Given the description of an element on the screen output the (x, y) to click on. 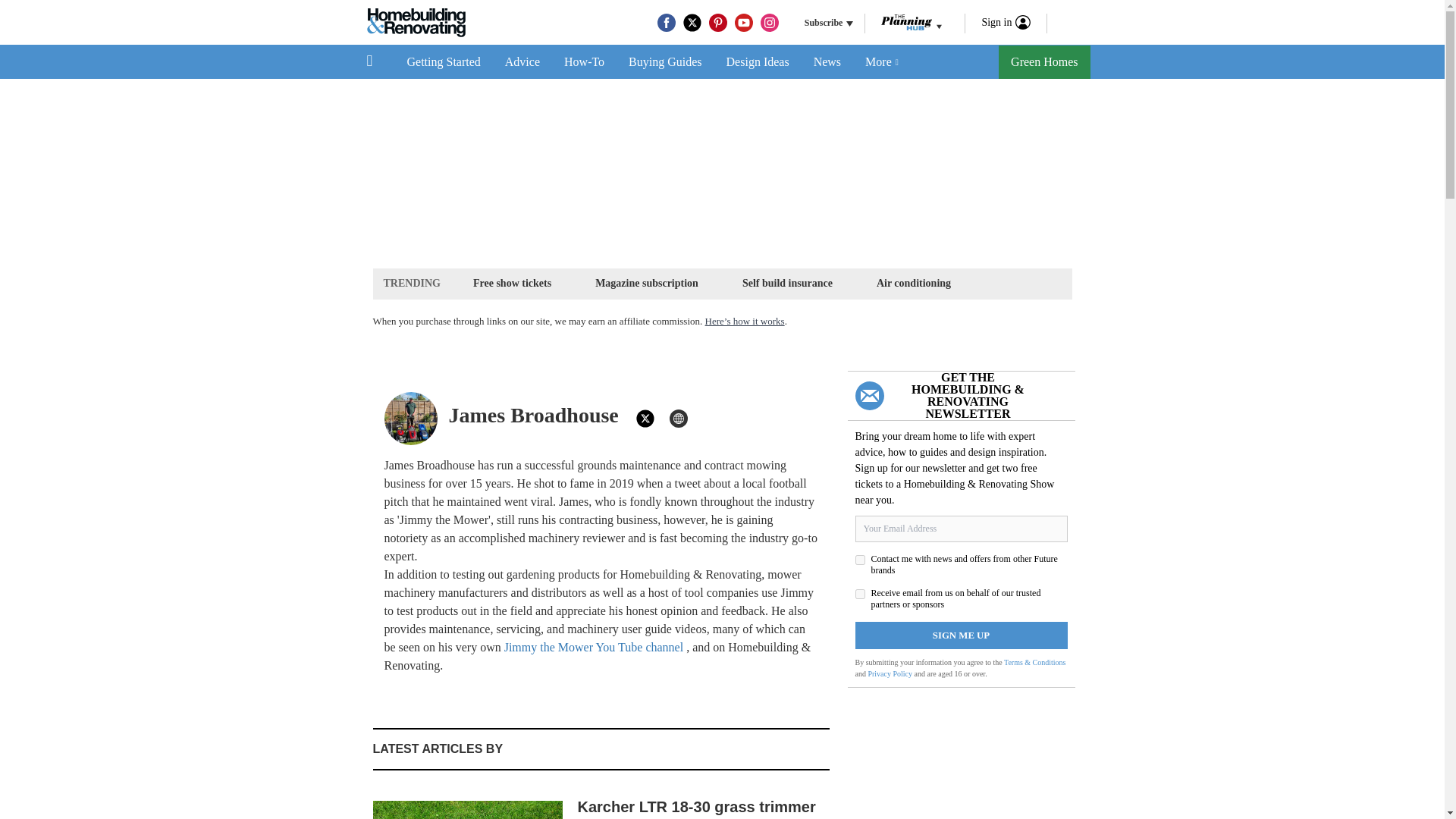
Air conditioning (913, 282)
Green Homes (1043, 61)
Advice (522, 61)
News (827, 61)
Magazine subscription (646, 282)
on (860, 593)
How-To (583, 61)
Self build insurance (787, 282)
Sign me up (961, 635)
Design Ideas (758, 61)
